Given the description of an element on the screen output the (x, y) to click on. 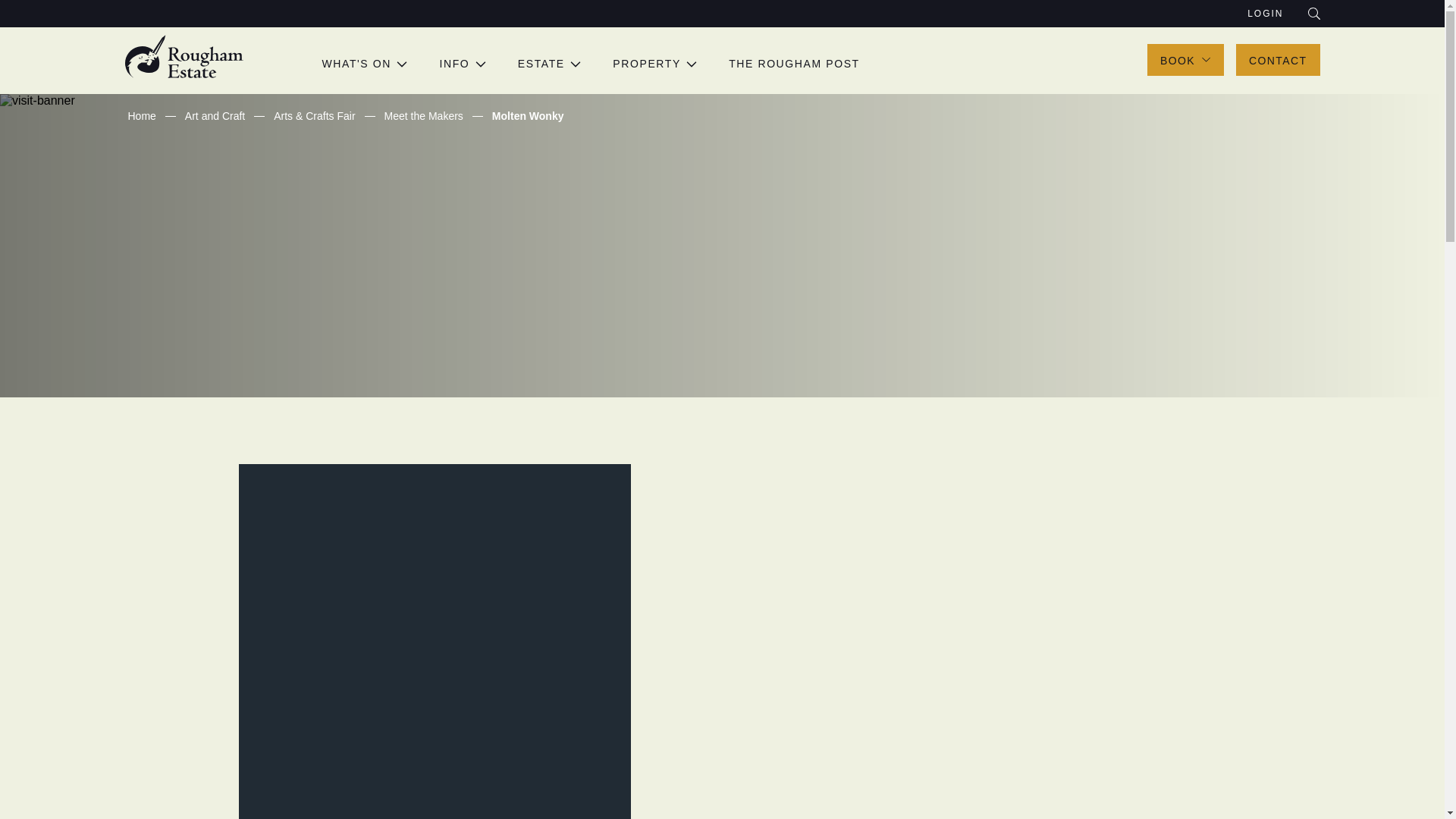
LOGIN (1264, 13)
CHEVRON-RIGHT (575, 64)
INFO CHEVRON-RIGHT (462, 63)
ESTATE CHEVRON-RIGHT (550, 63)
CHEVRON-RIGHT (480, 64)
CHEVRON-RIGHT (691, 64)
CHEVRON-RIGHT (401, 64)
WHAT'S ON CHEVRON-RIGHT (365, 63)
Rougham Estate homepage (183, 56)
